Given the description of an element on the screen output the (x, y) to click on. 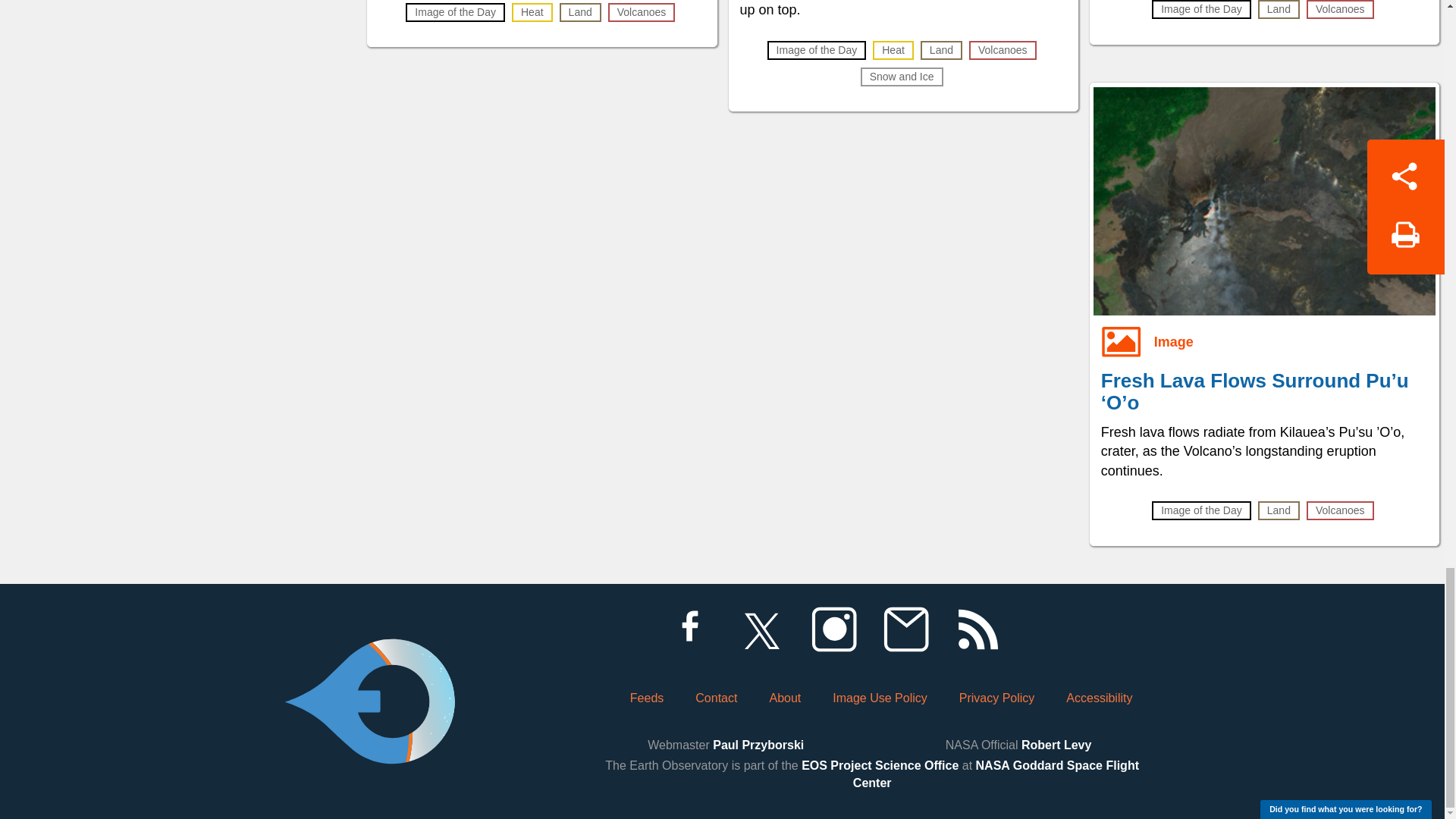
Instagram (833, 629)
Subscribe (905, 629)
Facebook (689, 629)
Earth Observatory (369, 659)
Twitter (761, 629)
RSS (977, 629)
